Given the description of an element on the screen output the (x, y) to click on. 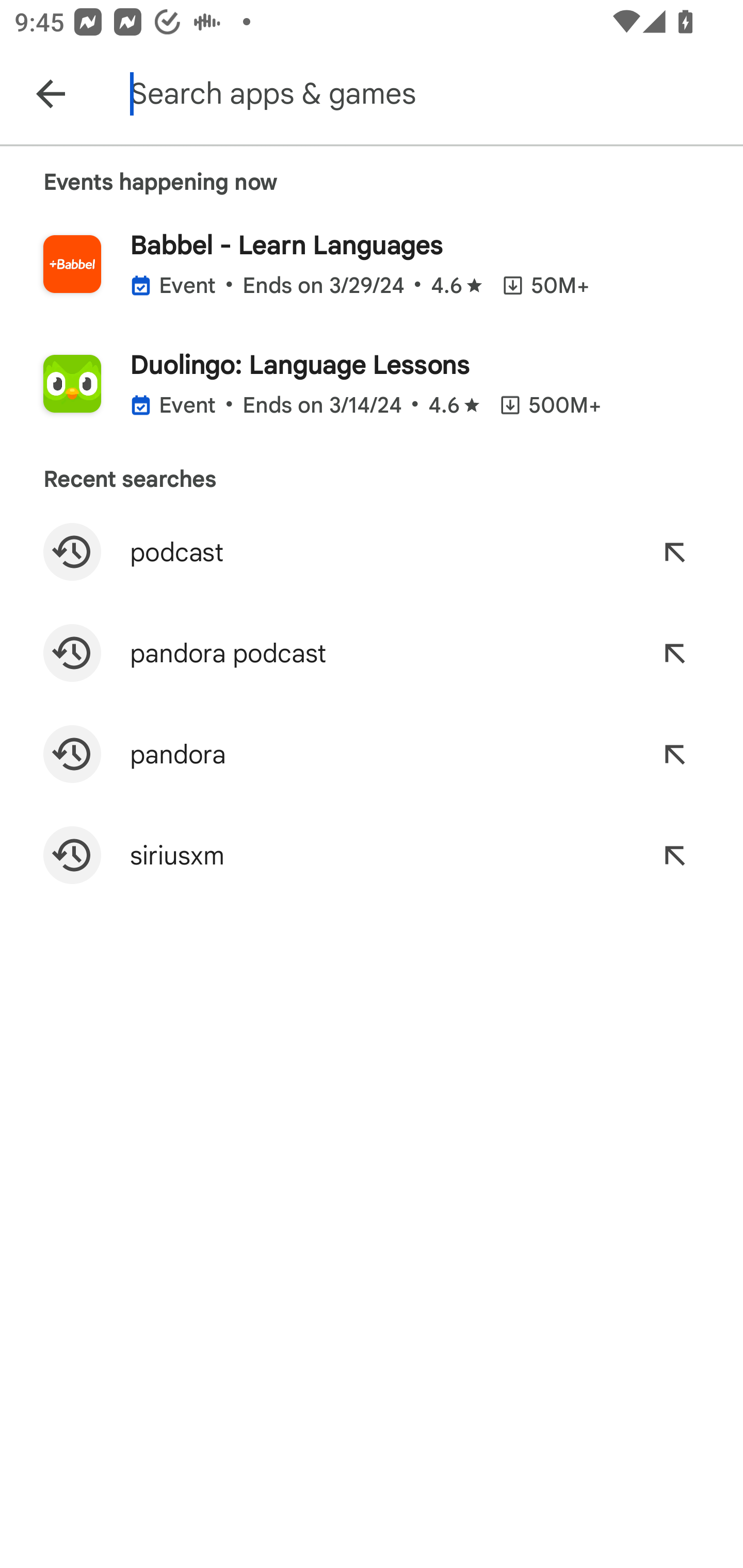
Navigate up (50, 93)
Search apps & games (432, 93)
Search for "podcast"  Refine search to "podcast" (371, 551)
Refine search to "podcast" (673, 551)
Refine search to "pandora podcast" (673, 653)
Search for "pandora"  Refine search to "pandora" (371, 754)
Refine search to "pandora" (673, 754)
Search for "siriusxm"  Refine search to "siriusxm" (371, 855)
Refine search to "siriusxm" (673, 855)
